Given the description of an element on the screen output the (x, y) to click on. 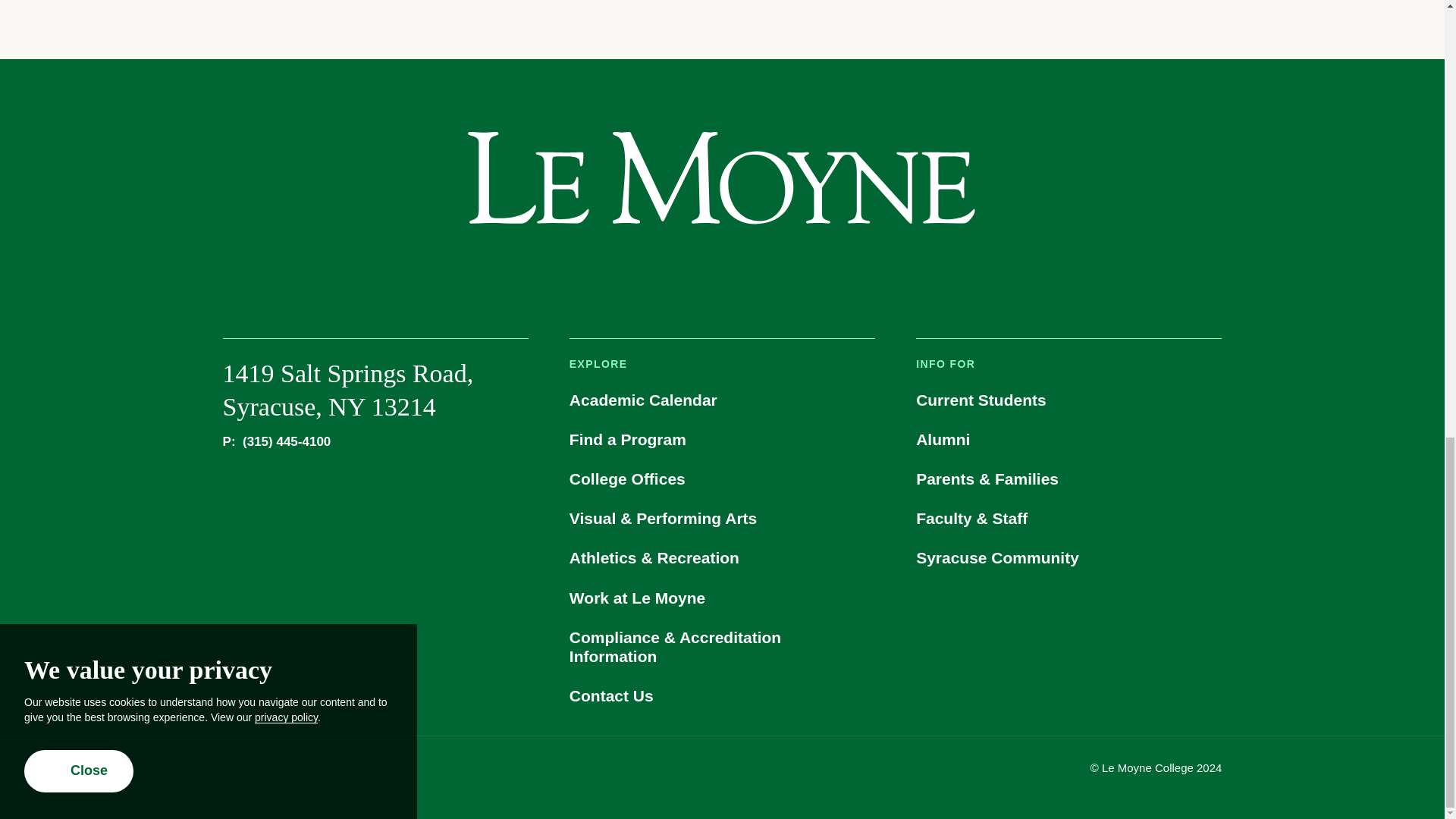
Facebook (637, 273)
Contact Us (722, 695)
Opens in a new tab (807, 273)
Current Students (1068, 399)
Find a Program (722, 439)
Alumni (1068, 439)
Opens in a new tab (637, 273)
LinkedIn (807, 273)
Opens in a new tab (719, 273)
YouTube (763, 273)
Academic Calendar (722, 399)
College Offices (722, 478)
Opens in a new tab (763, 273)
Twitter (678, 273)
Le Moyne College (721, 178)
